Given the description of an element on the screen output the (x, y) to click on. 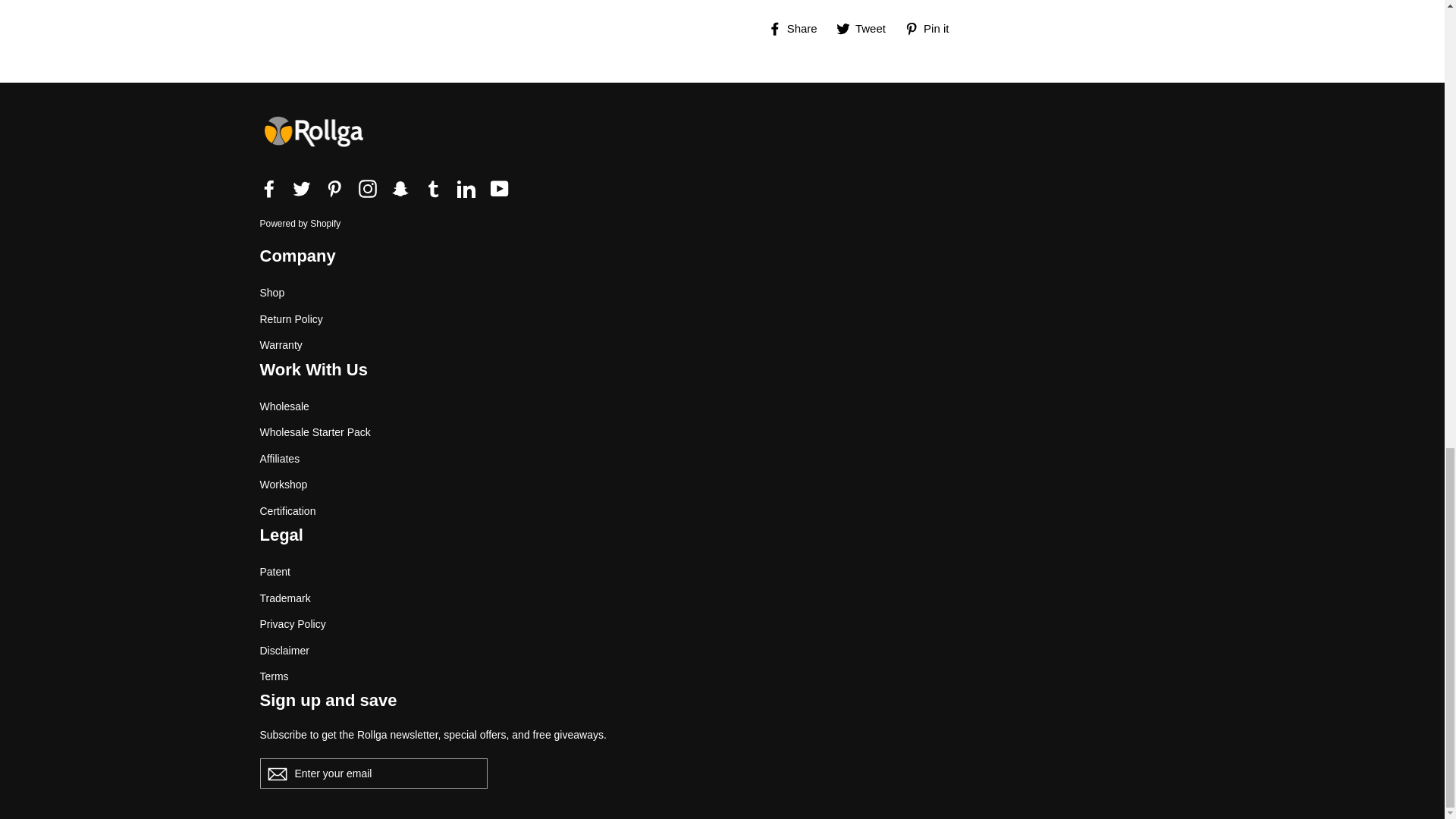
Rollga on Snapchat (400, 188)
Pin on Pinterest (932, 28)
Rollga on Tumblr (433, 188)
Tweet on Twitter (865, 28)
Rollga on Instagram (367, 188)
Rollga on LinkedIn (466, 188)
Rollga on YouTube (499, 188)
Rollga on Twitter (301, 188)
Share on Facebook (797, 28)
Rollga on Pinterest (333, 188)
